Given the description of an element on the screen output the (x, y) to click on. 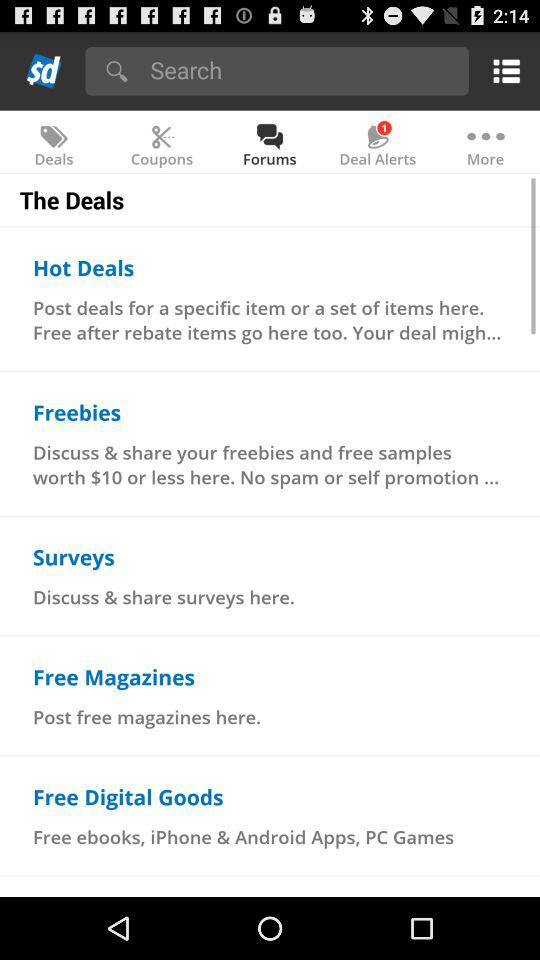
launch item above the free ebooks iphone (128, 796)
